Given the description of an element on the screen output the (x, y) to click on. 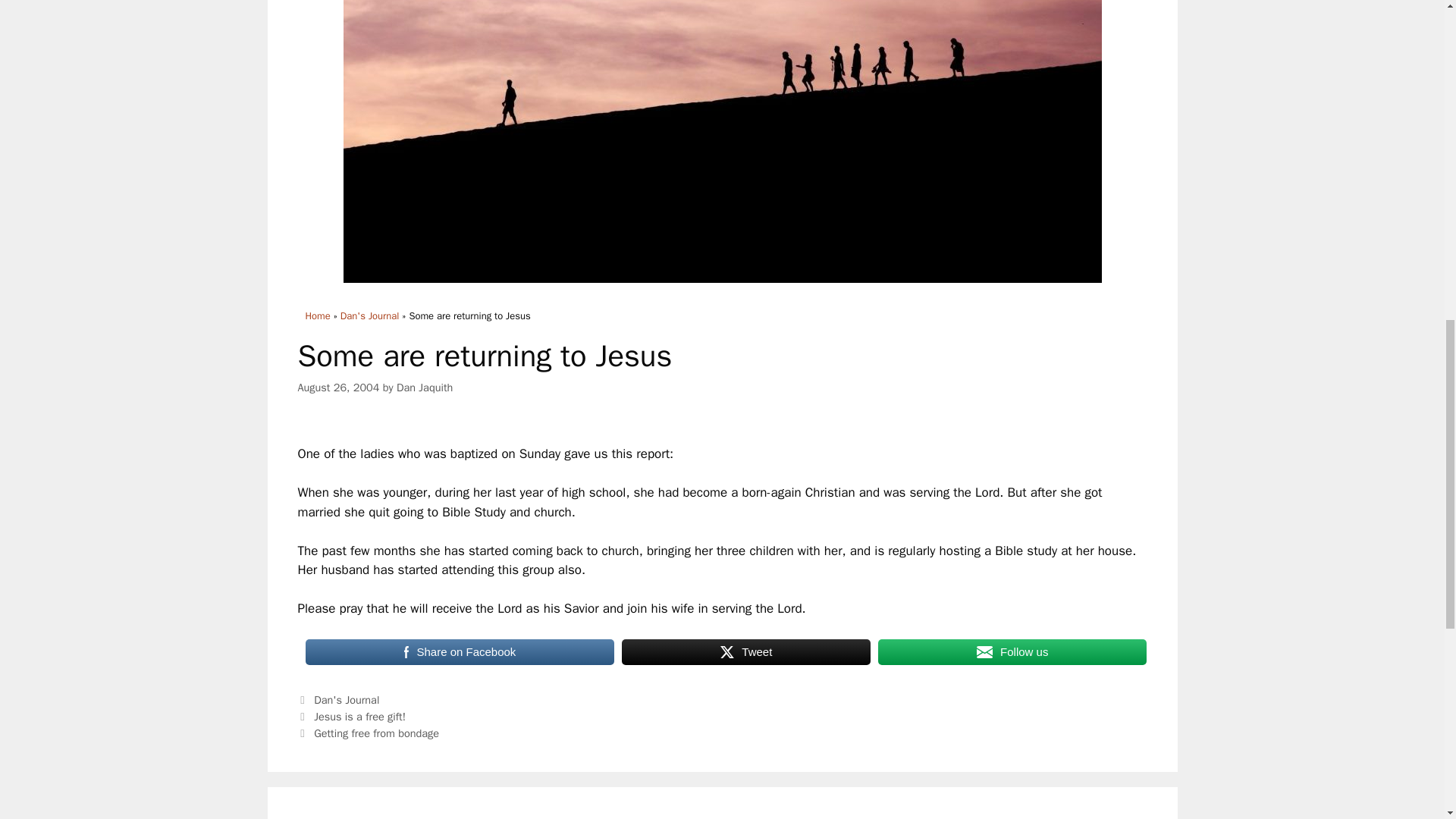
Tweet (745, 652)
Home (317, 315)
Jesus is a free gift! (360, 716)
Next (368, 733)
Share on Facebook (459, 652)
Follow us (1012, 652)
Previous (351, 716)
Getting free from bondage (376, 733)
Dan's Journal (346, 699)
View all posts by Dan Jaquith (424, 386)
Dan's Journal (369, 315)
Dan Jaquith (424, 386)
8:18 am (337, 386)
August 26, 2004 (337, 386)
